Given the description of an element on the screen output the (x, y) to click on. 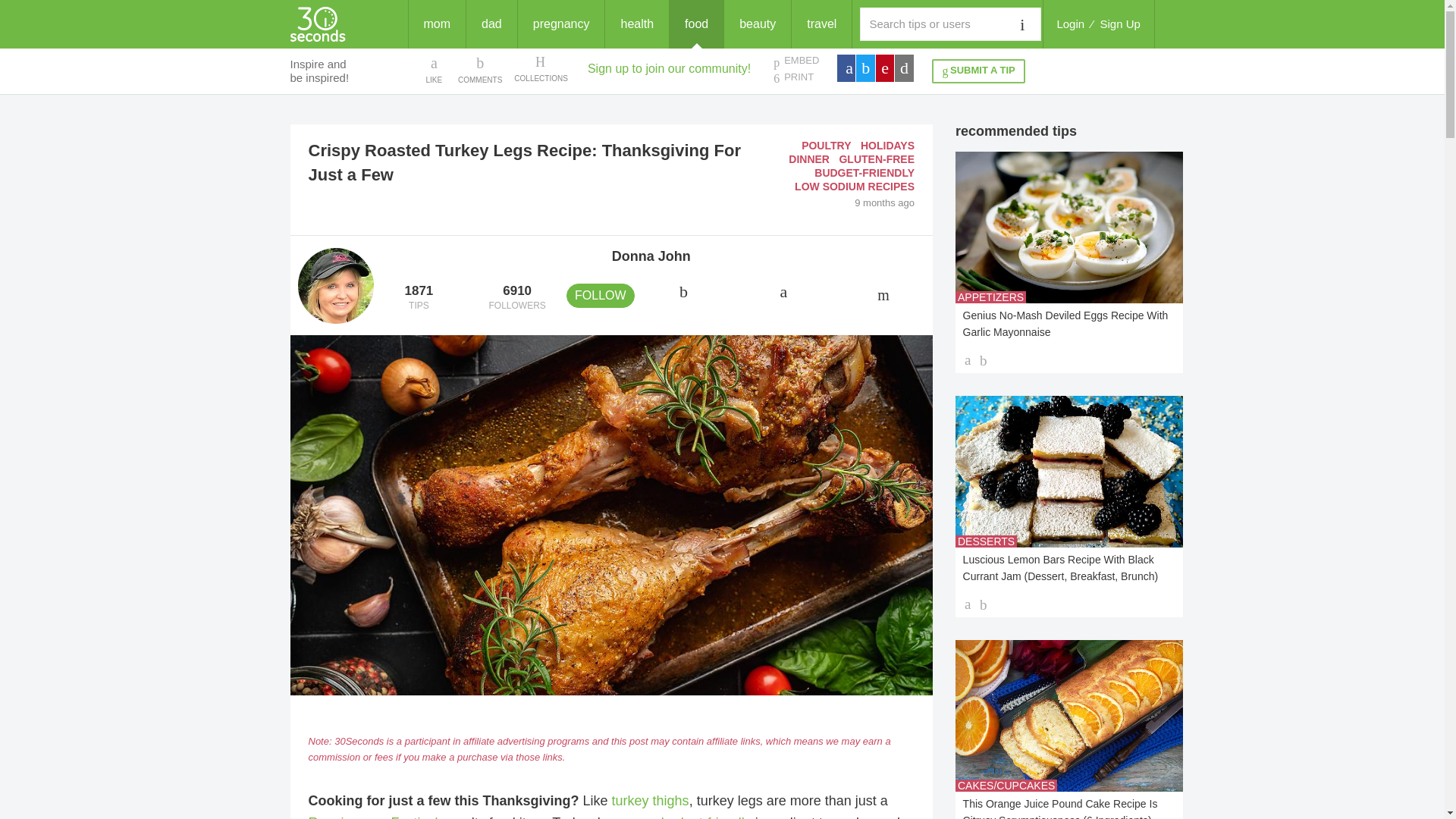
beauty (756, 24)
food (696, 24)
mom (436, 24)
PRINT (795, 77)
health (636, 24)
LOW SODIUM RECIPES (854, 186)
pregnancy (561, 24)
DINNER (516, 297)
Login (809, 159)
